Given the description of an element on the screen output the (x, y) to click on. 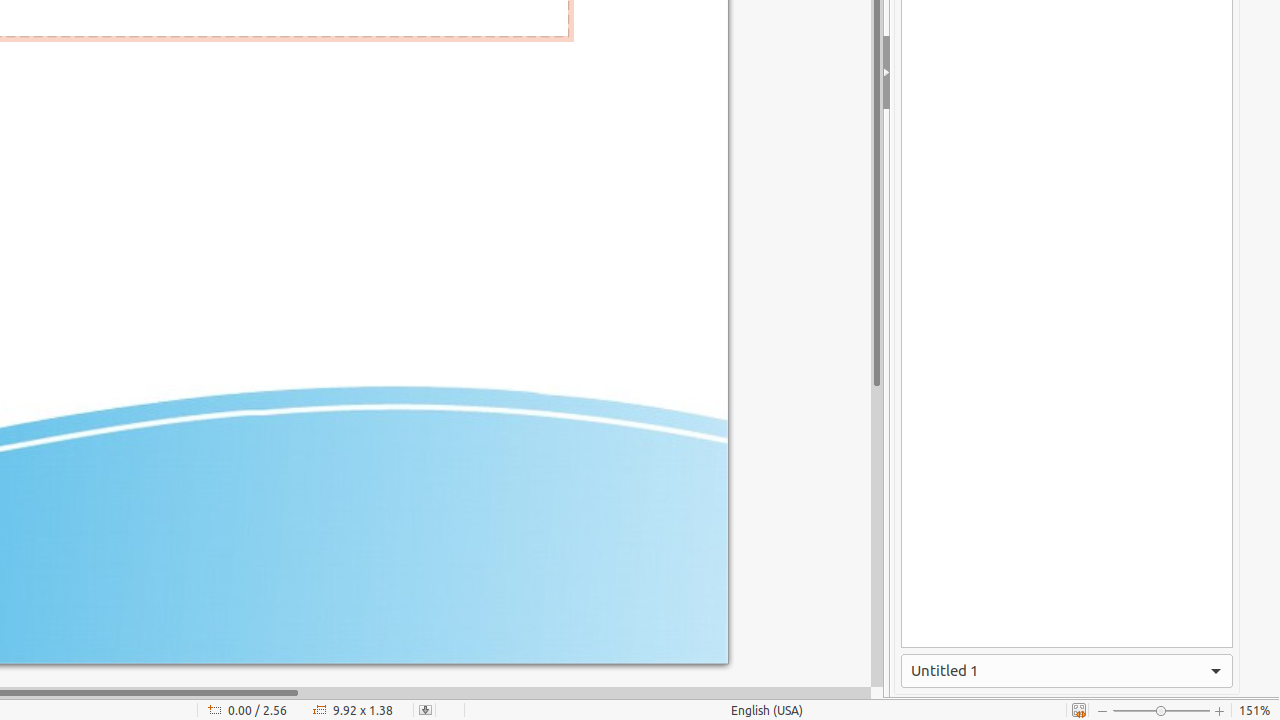
Active Window Element type: combo-box (1067, 671)
